Given the description of an element on the screen output the (x, y) to click on. 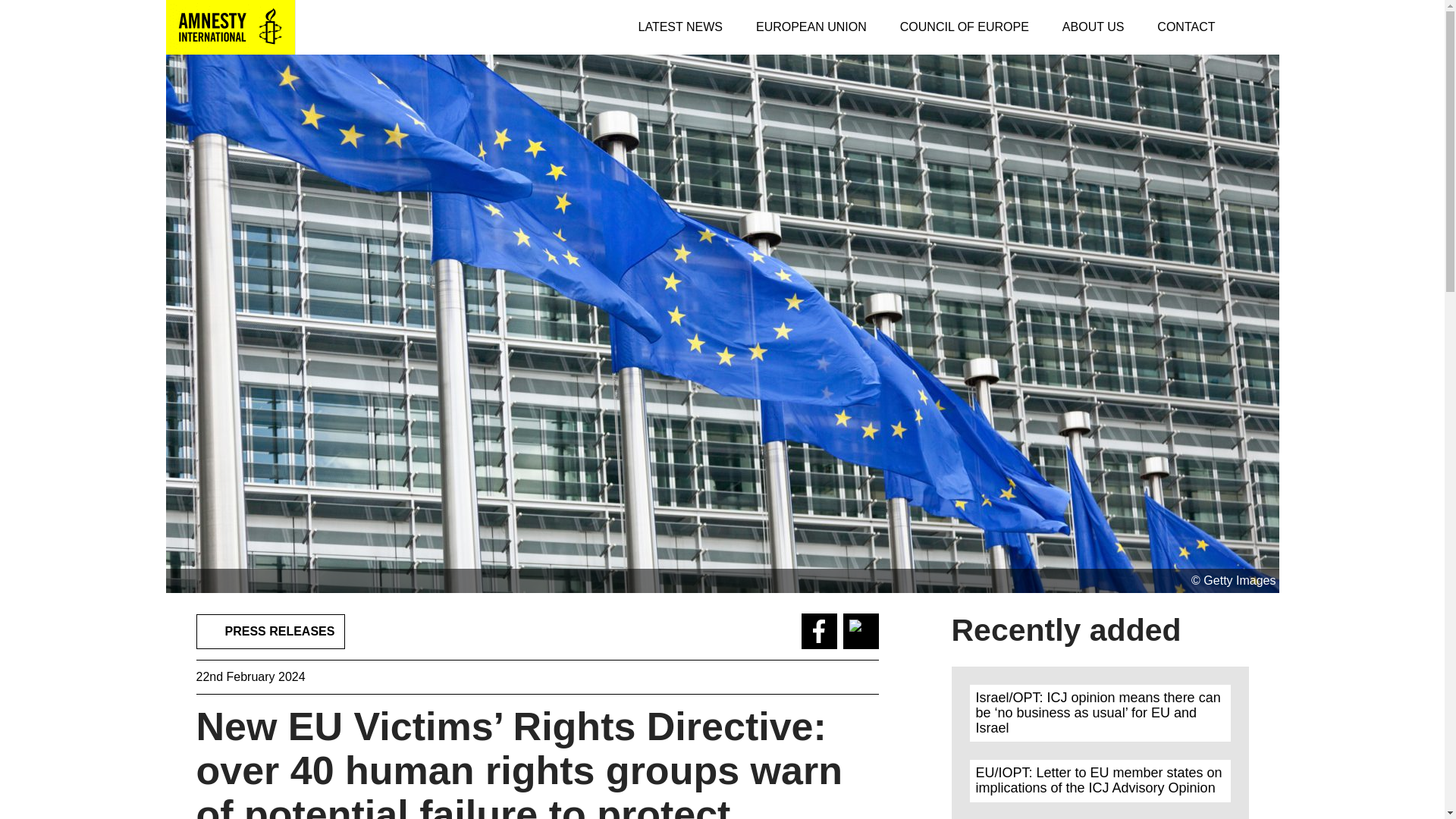
COUNCIL OF EUROPE (964, 27)
ABOUT US (1093, 27)
Share on Twitter (861, 631)
Share on Facebook (817, 631)
LATEST NEWS (680, 27)
EUROPEAN UNION (811, 27)
PRESS RELEASES (270, 631)
CONTACT (1185, 27)
